Given the description of an element on the screen output the (x, y) to click on. 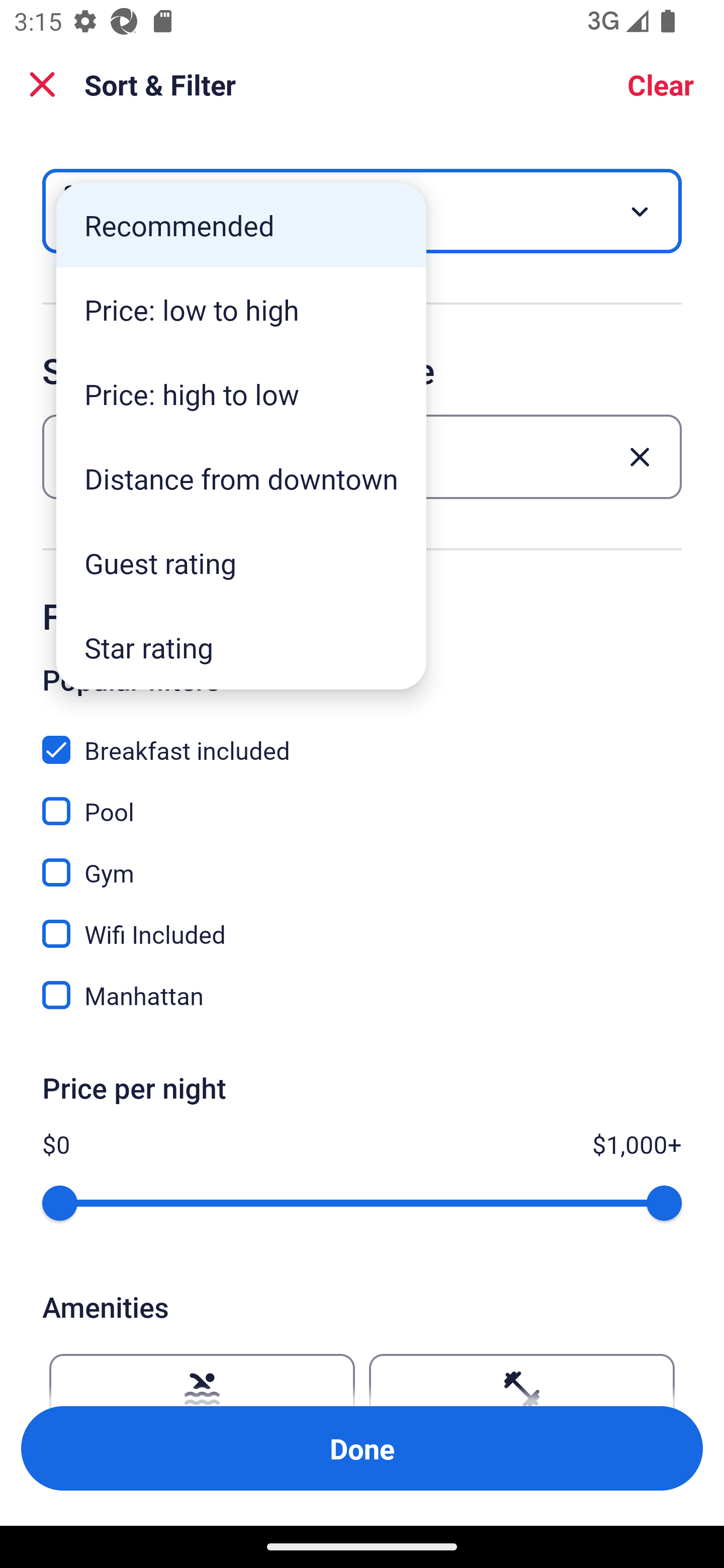
Price: low to high (241, 309)
Price: high to low (241, 393)
Distance from downtown (241, 477)
Guest rating (241, 562)
Star rating (241, 647)
